Given the description of an element on the screen output the (x, y) to click on. 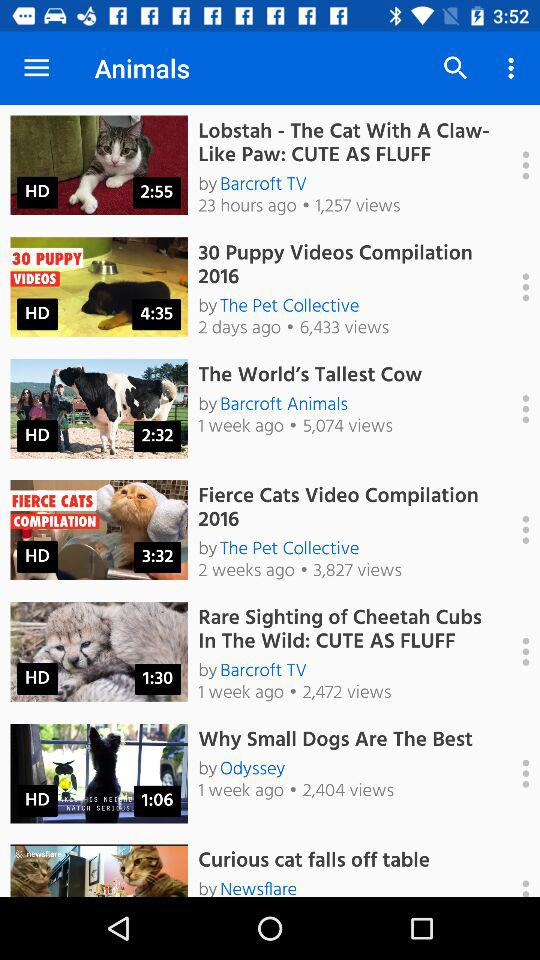
show options (515, 165)
